Given the description of an element on the screen output the (x, y) to click on. 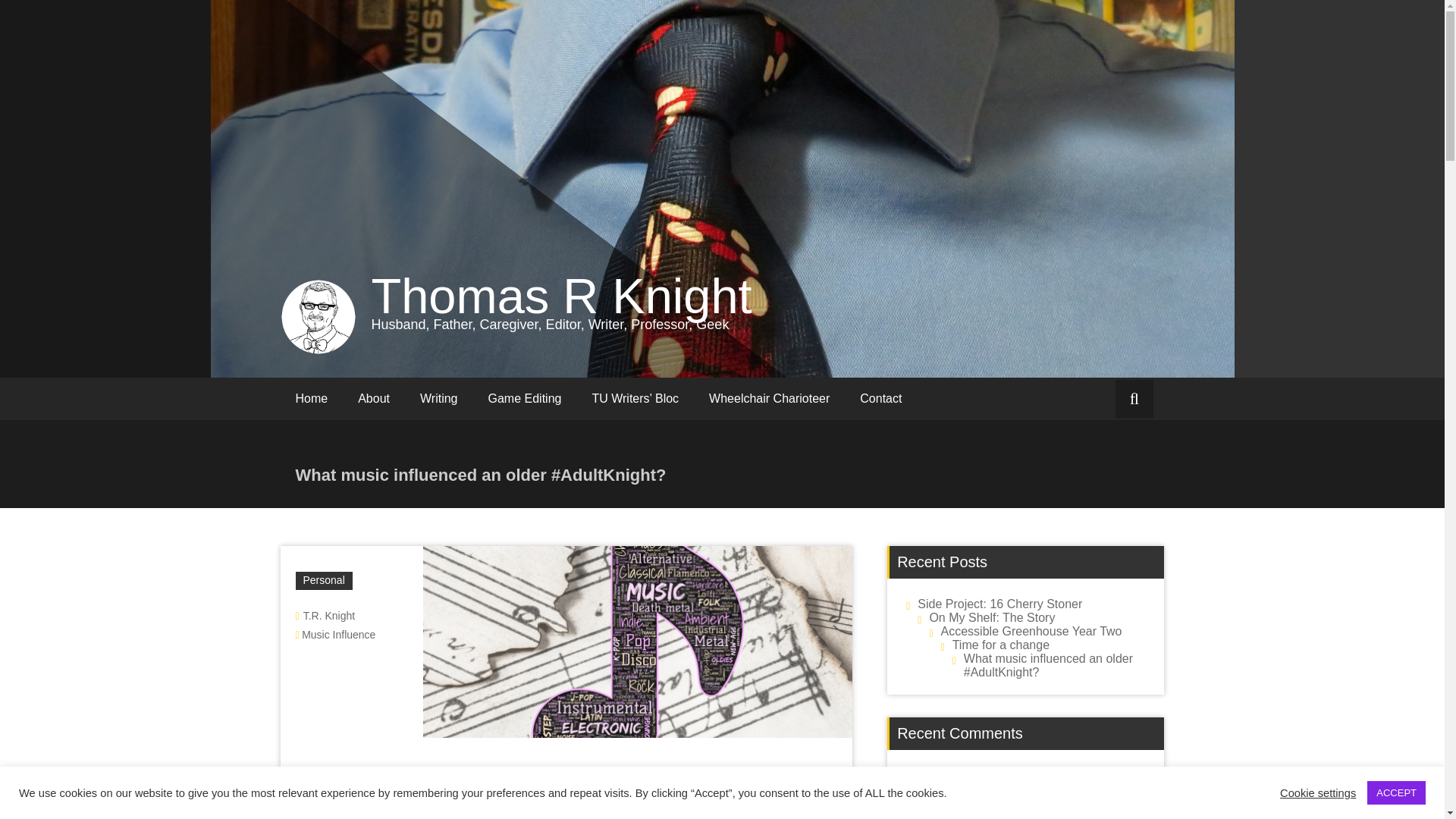
Time for a change (1000, 644)
Personal (323, 580)
Contact (880, 398)
Accessible Greenhouse Year One (997, 795)
Side Project: 16 Cherry Stoner (999, 603)
Home (312, 398)
About (373, 398)
Game Editing (524, 398)
On My Shelf: The Story (991, 617)
Music Influence (338, 634)
T.R. Knight (328, 615)
Accessible Greenhouse Year Two (1031, 631)
Thomas R Knight (561, 295)
Writing (438, 398)
Wheelchair Charioteer (769, 398)
